Given the description of an element on the screen output the (x, y) to click on. 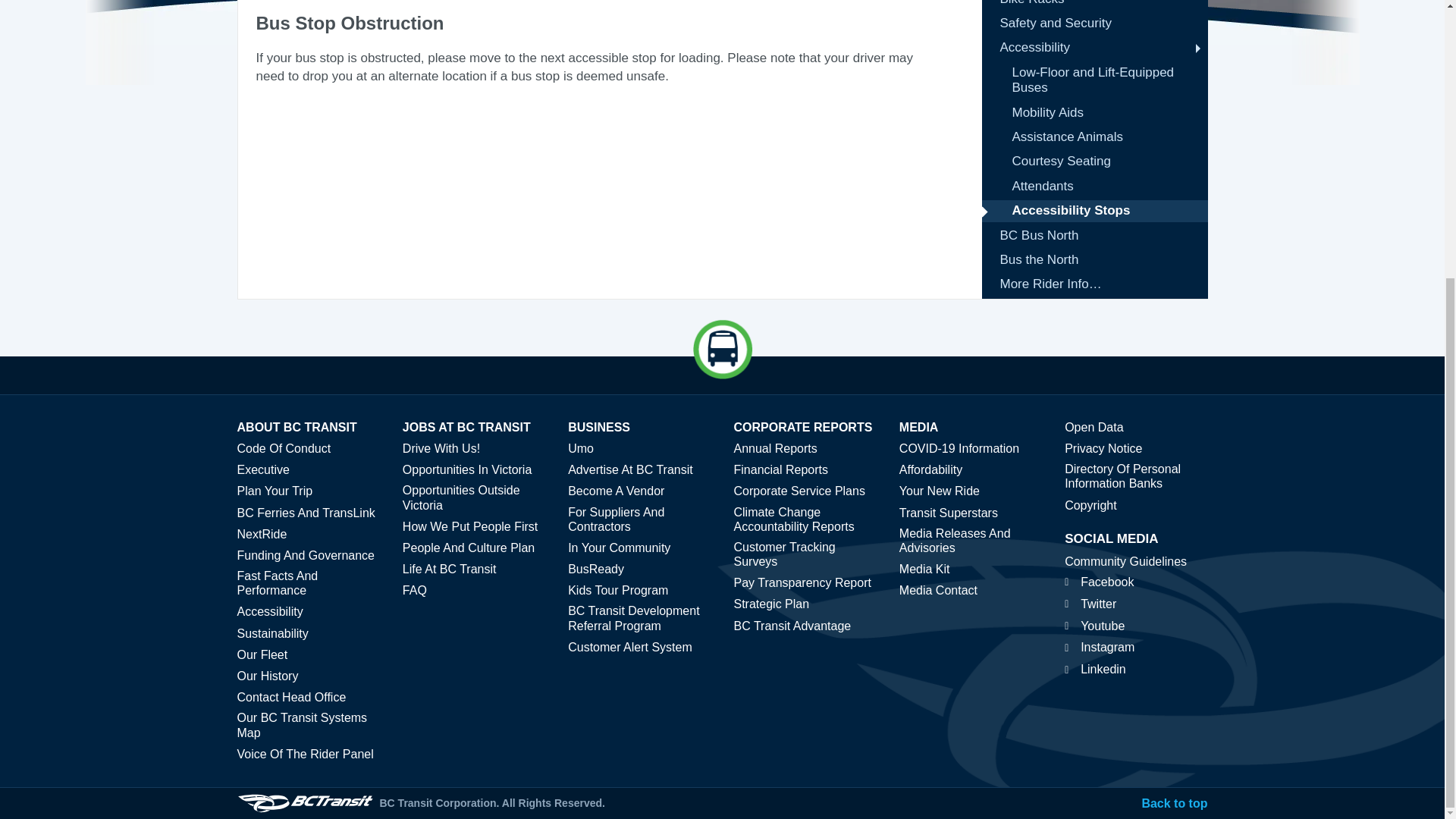
Back to top (1174, 803)
